Given the description of an element on the screen output the (x, y) to click on. 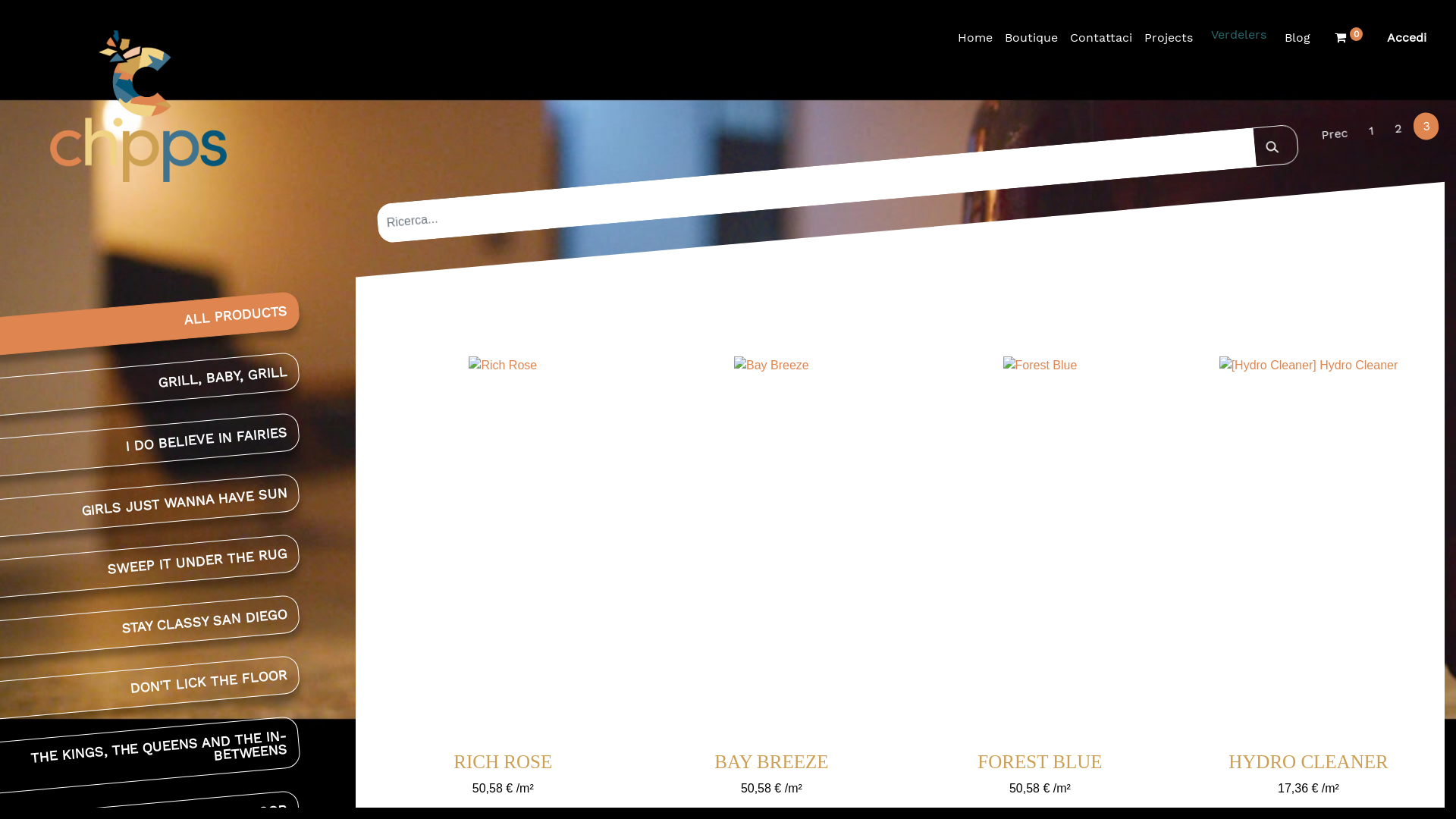
Verdelers Element type: text (1238, 34)
Boutique Element type: text (1030, 37)
FOREST BLUE Element type: text (1039, 761)
Contattaci Element type: text (1100, 37)
1 Element type: text (1369, 130)
Chipps Element type: hover (119, 106)
RICH ROSE Element type: text (502, 761)
3 Element type: text (1424, 124)
Accedi Element type: text (1406, 37)
Cerca Element type: hover (1273, 143)
Prec Element type: text (1333, 131)
0 Element type: text (1348, 37)
HYDRO CLEANER Element type: text (1307, 761)
Projects Element type: text (1168, 37)
BAY BREEZE Element type: text (771, 761)
Blog Element type: text (1297, 37)
Home Element type: text (974, 37)
2 Element type: text (1396, 127)
